Given the description of an element on the screen output the (x, y) to click on. 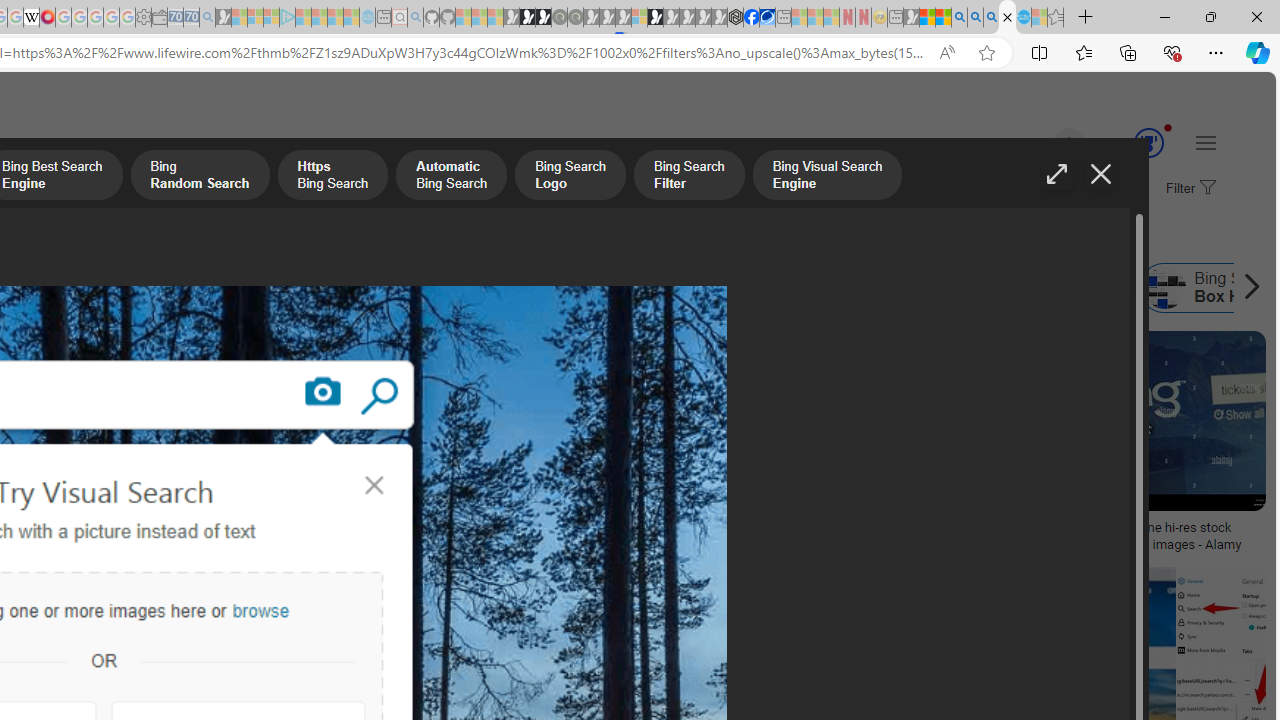
Nordace - Cooler Bags (735, 17)
Image result for Bing Search Site (1221, 611)
Future Focus Report 2024 - Sleeping (575, 17)
Bing AI - Search (959, 17)
Full screen (1055, 173)
Related ProductsT-ShirtsHoodiesMugs (136, 444)
